Given the description of an element on the screen output the (x, y) to click on. 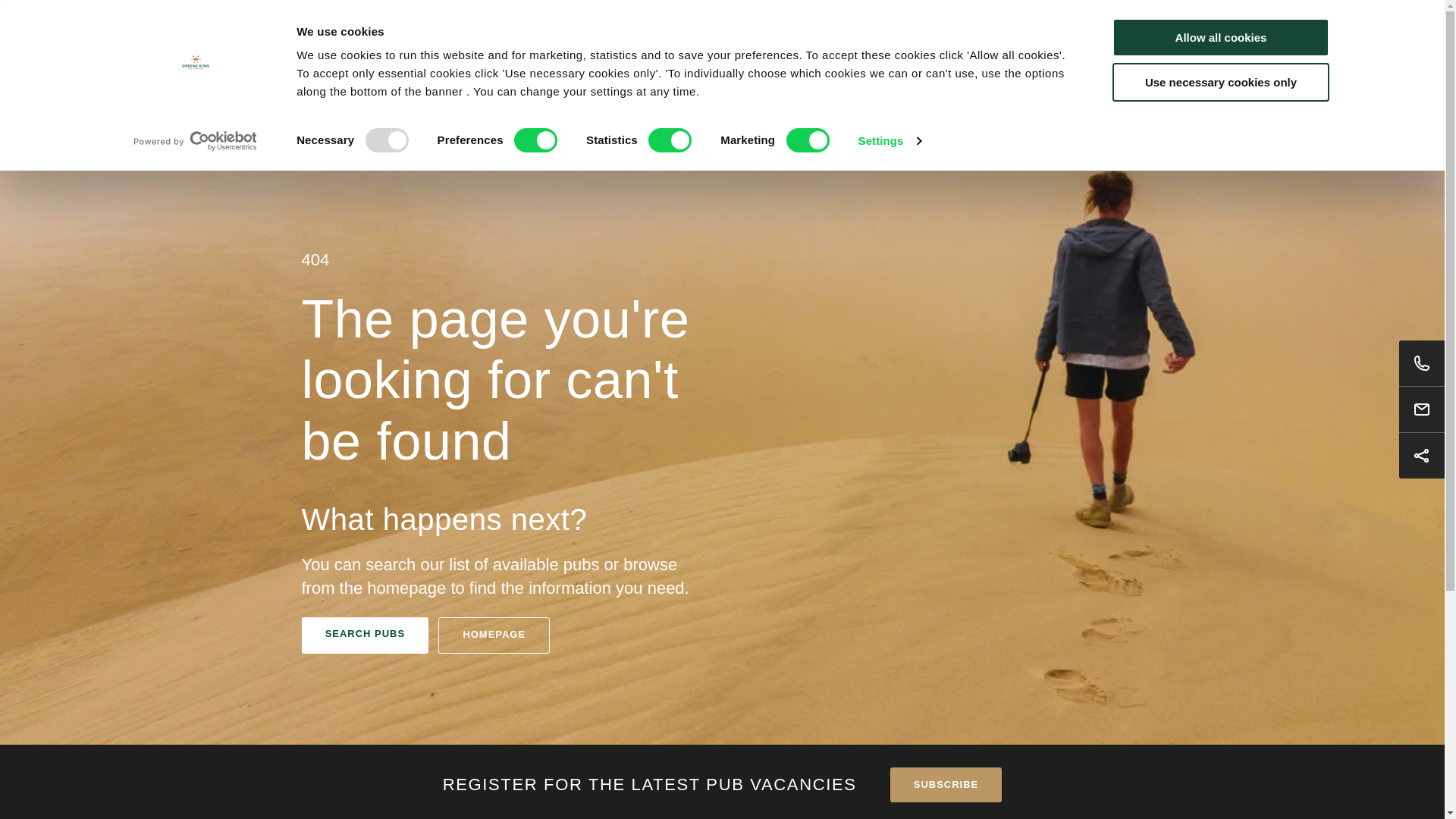
Settings (888, 140)
Search pubs (1079, 121)
Running a pub (621, 64)
Find a pub (526, 64)
